Given the description of an element on the screen output the (x, y) to click on. 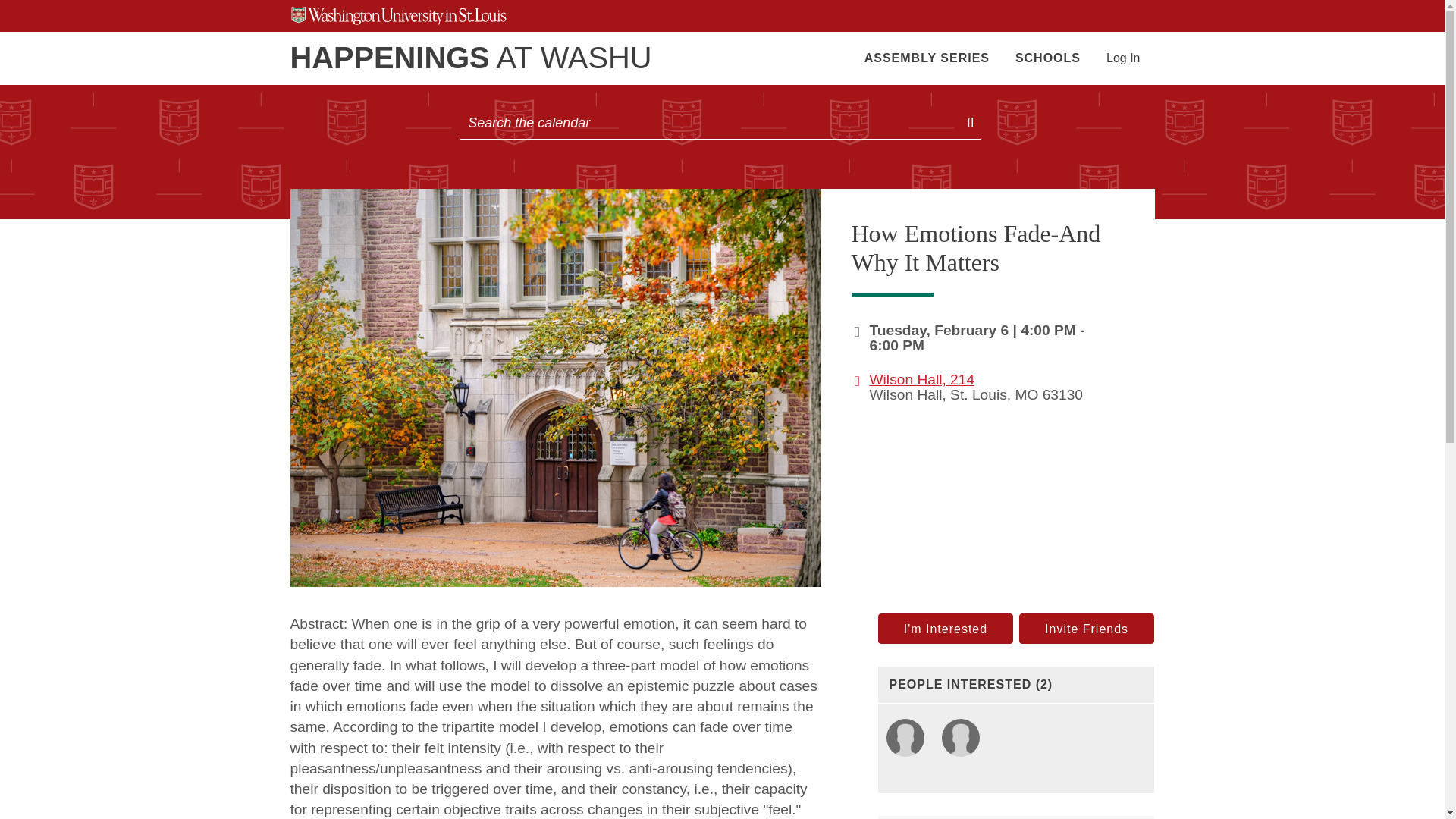
Invite Friends (1086, 628)
Log In (1122, 58)
SCHOOLS (1047, 57)
Wilson Hall, 214 (921, 379)
ASSEMBLY SERIES (927, 57)
Search (972, 122)
Yifei Wang (905, 739)
HAPPENINGS AT WASHU (469, 57)
I'm Interested (945, 628)
2024-02-06T16:00:00-06:00 (974, 330)
